Given the description of an element on the screen output the (x, y) to click on. 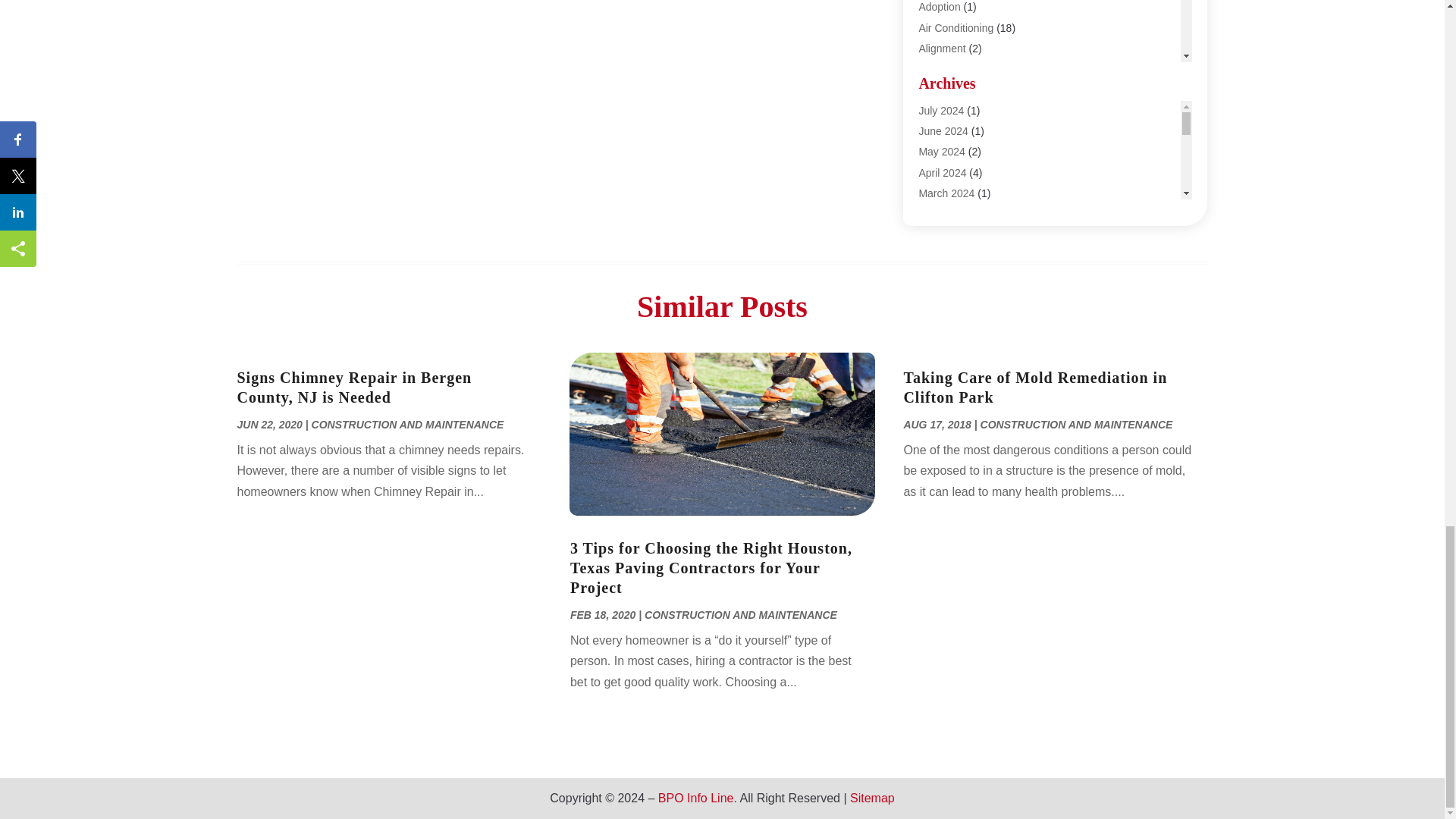
Call Center Services (966, 213)
Air Conditioning (955, 28)
Bpoinfoline (944, 151)
Call Center Outsourcing (974, 192)
Bail Bonds (943, 130)
Adoption (938, 6)
Appliances (944, 89)
Car Dealers (946, 233)
Business (939, 172)
Automotive (944, 110)
Alignment (941, 48)
Carpet Cleaning (956, 254)
Allergy-Doctor (951, 69)
